Given the description of an element on the screen output the (x, y) to click on. 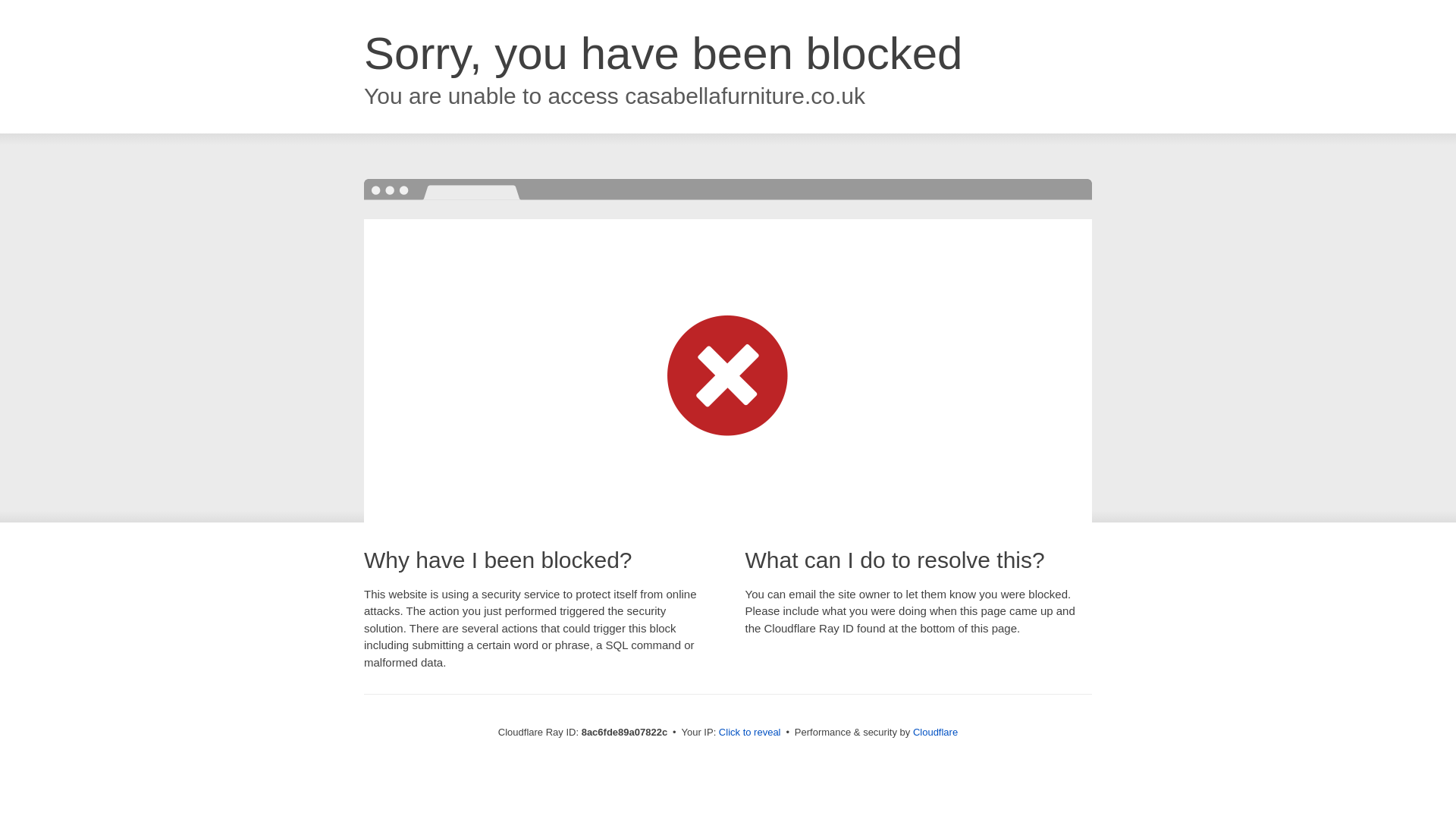
Cloudflare (935, 731)
Click to reveal (749, 732)
